Given the description of an element on the screen output the (x, y) to click on. 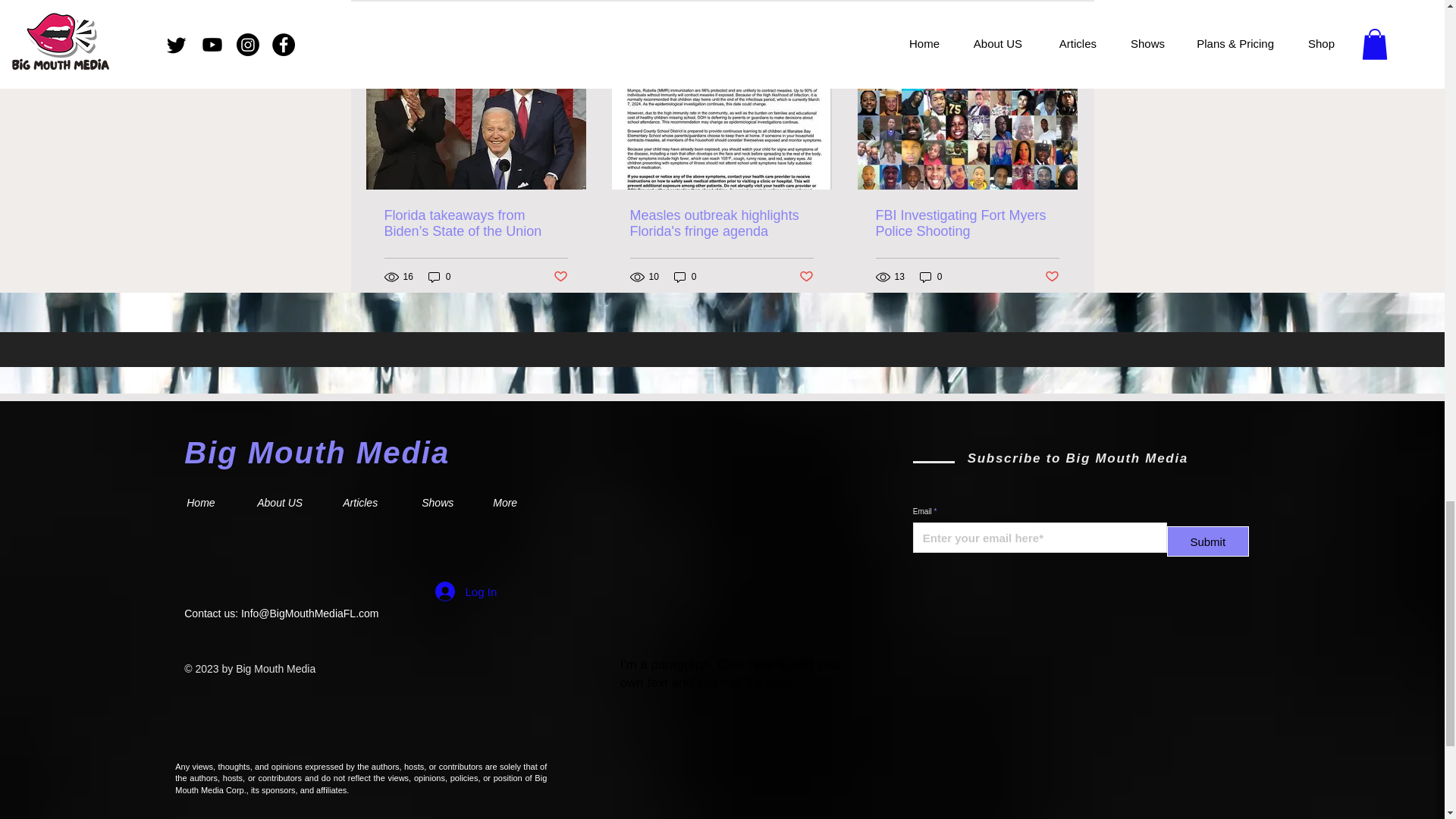
0 (439, 277)
Post not marked as liked (560, 277)
See All (1061, 39)
Embedded Content (1081, 732)
